Given the description of an element on the screen output the (x, y) to click on. 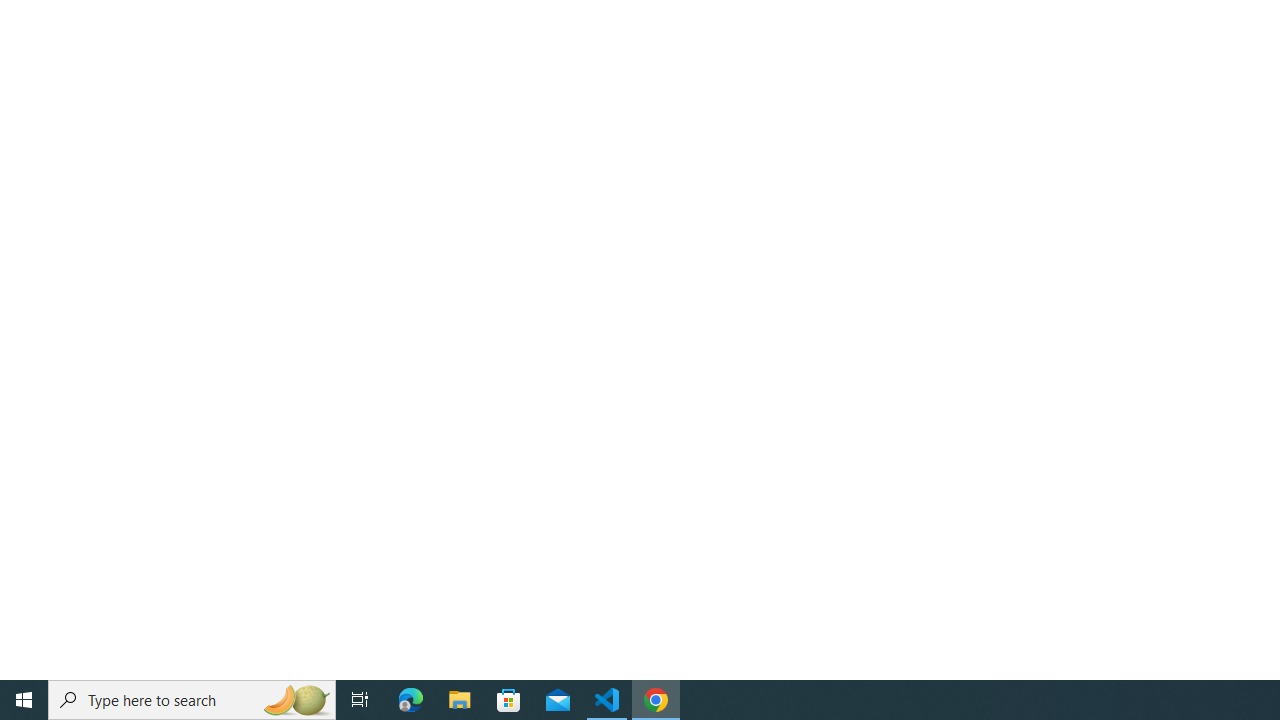
Microsoft Edge (411, 699)
Visual Studio Code - 1 running window (607, 699)
Start (24, 699)
Task View (359, 699)
Search highlights icon opens search home window (295, 699)
Type here to search (191, 699)
Microsoft Store (509, 699)
File Explorer (460, 699)
Google Chrome - 1 running window (656, 699)
